Given the description of an element on the screen output the (x, y) to click on. 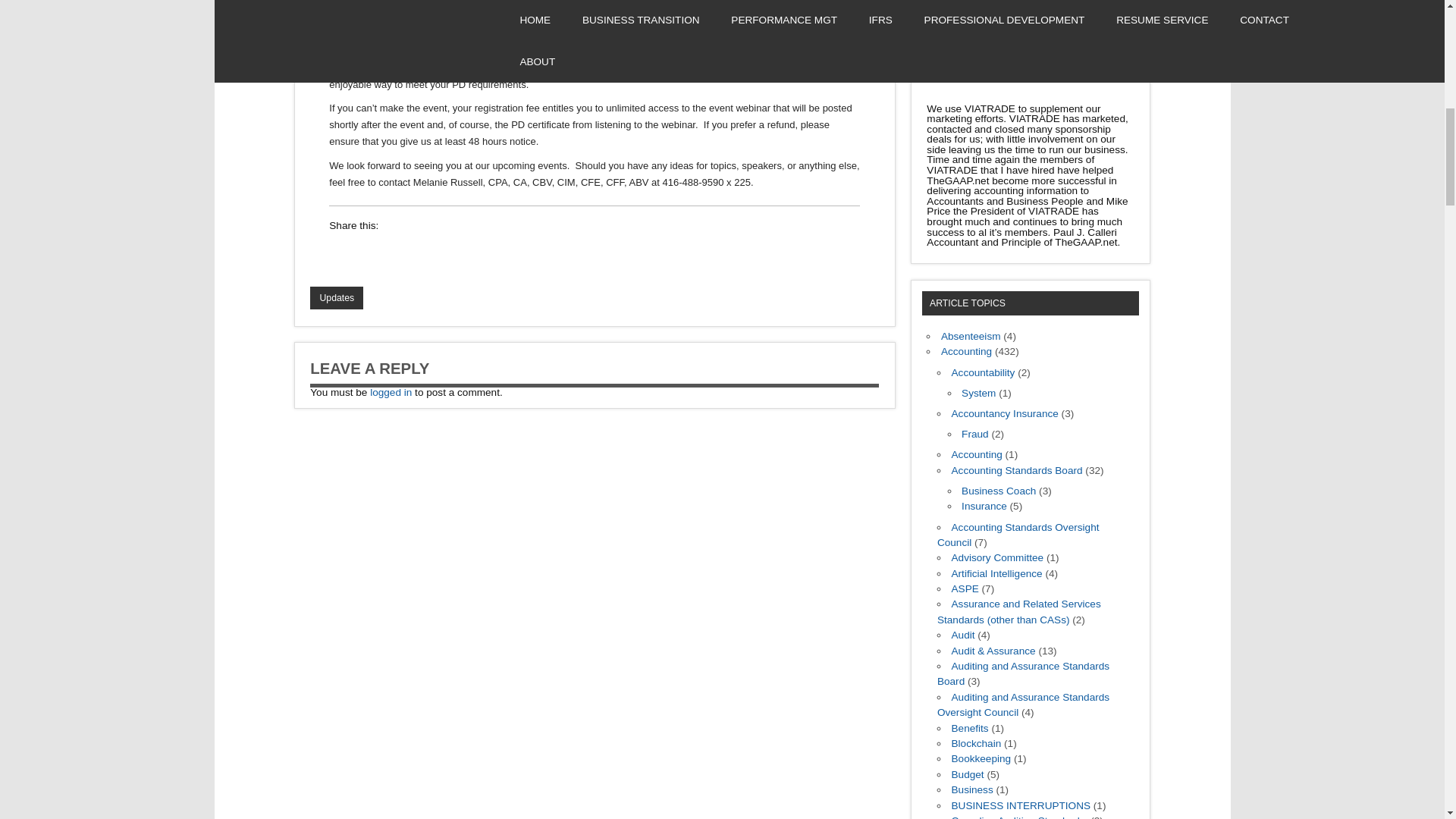
Click to share by Email (456, 253)
Click to share on Pinterest (485, 253)
Register here! (371, 43)
logged in (390, 392)
Click to share on Facebook (369, 253)
Click to share on Twitter (426, 253)
Updates (336, 297)
Click to share on LinkedIn (341, 253)
Absenteeism (970, 336)
Click to share on Google (398, 253)
